Given the description of an element on the screen output the (x, y) to click on. 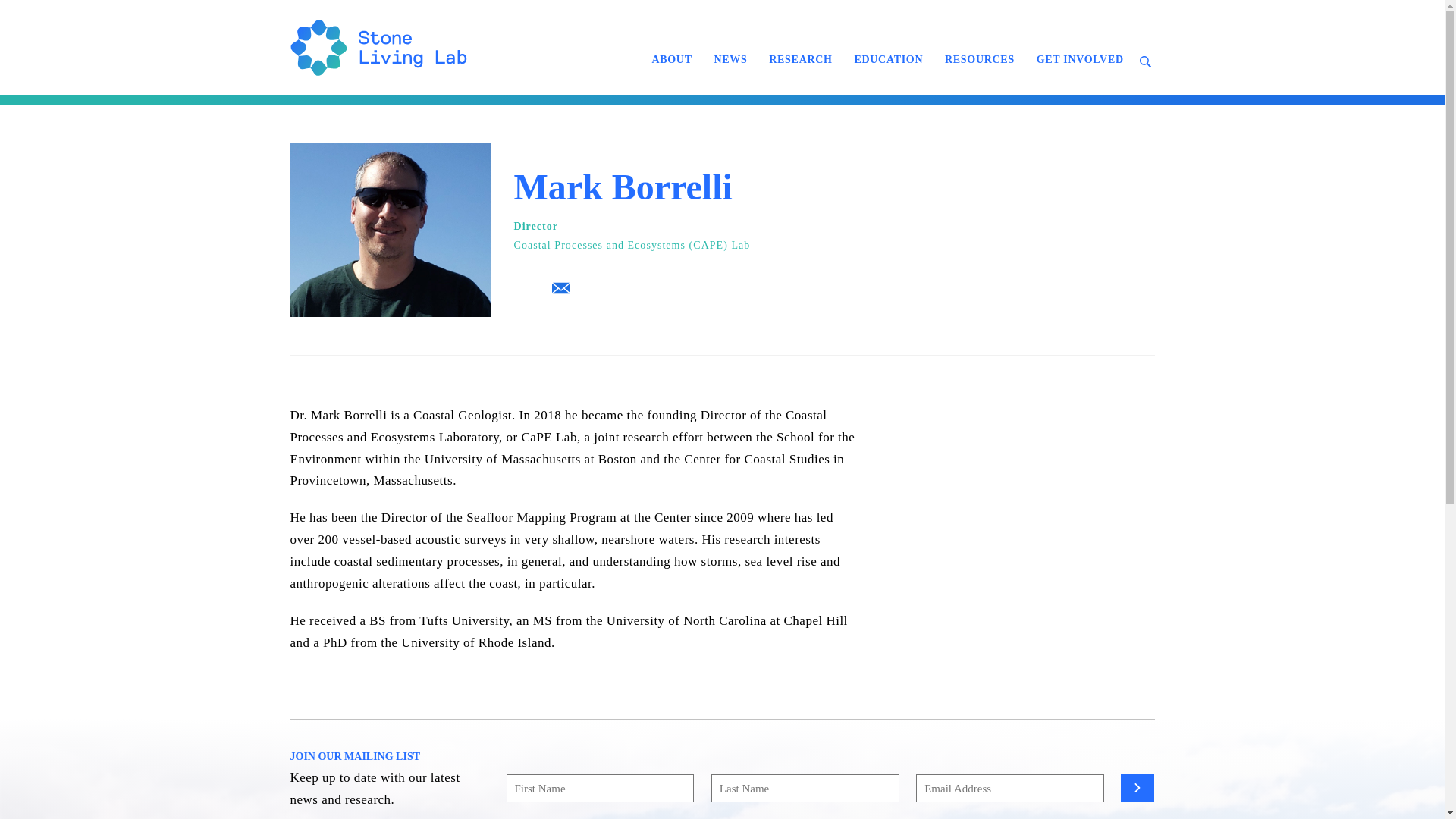
Email Address (1009, 787)
GET INVOLVED (1079, 59)
ABOUT (671, 59)
RESEARCH (800, 59)
NEWS (729, 59)
EDUCATION (887, 59)
First Name (600, 787)
RESOURCES (979, 59)
Last Name (805, 787)
